Given the description of an element on the screen output the (x, y) to click on. 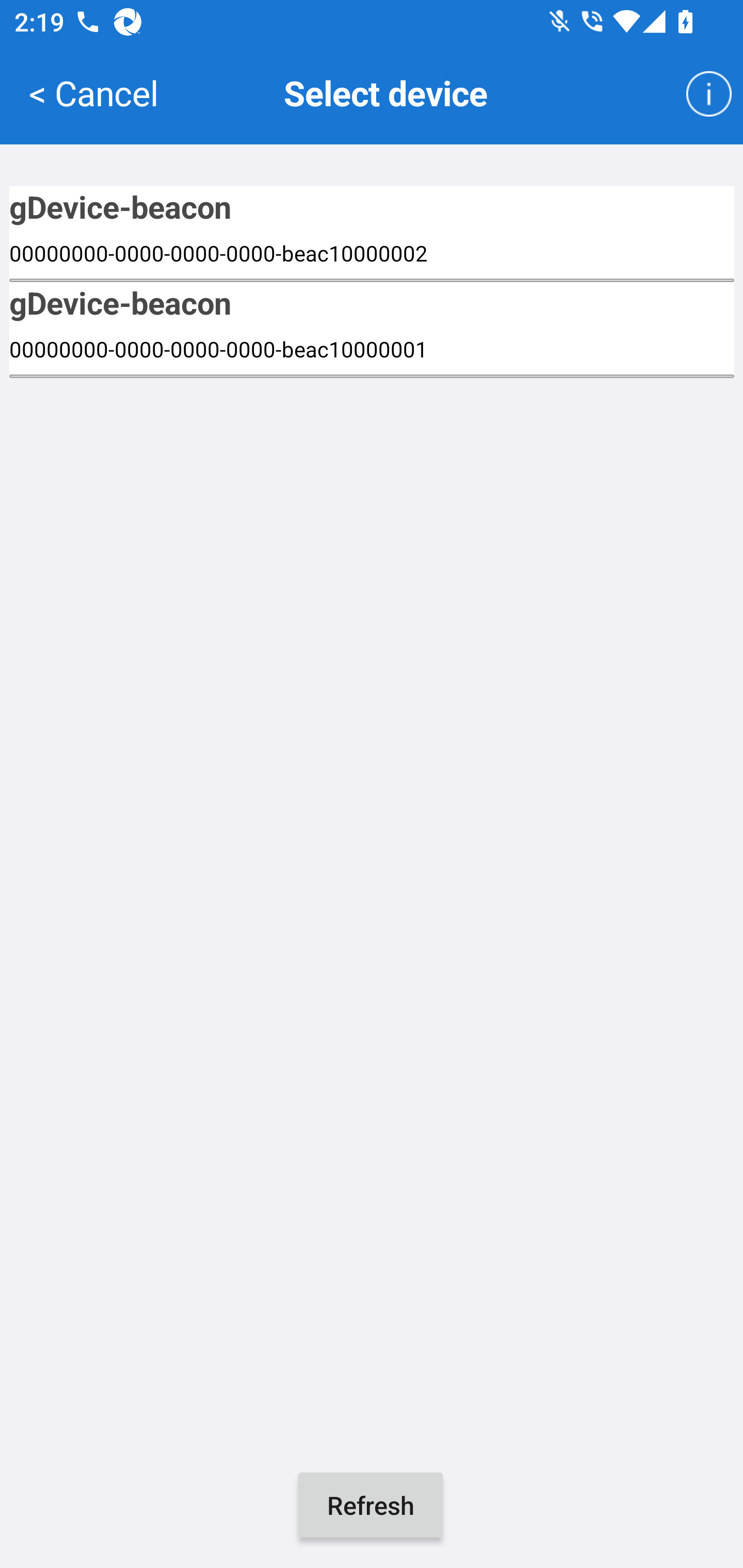
< Cancel (93, 92)
Refresh (370, 1505)
